Given the description of an element on the screen output the (x, y) to click on. 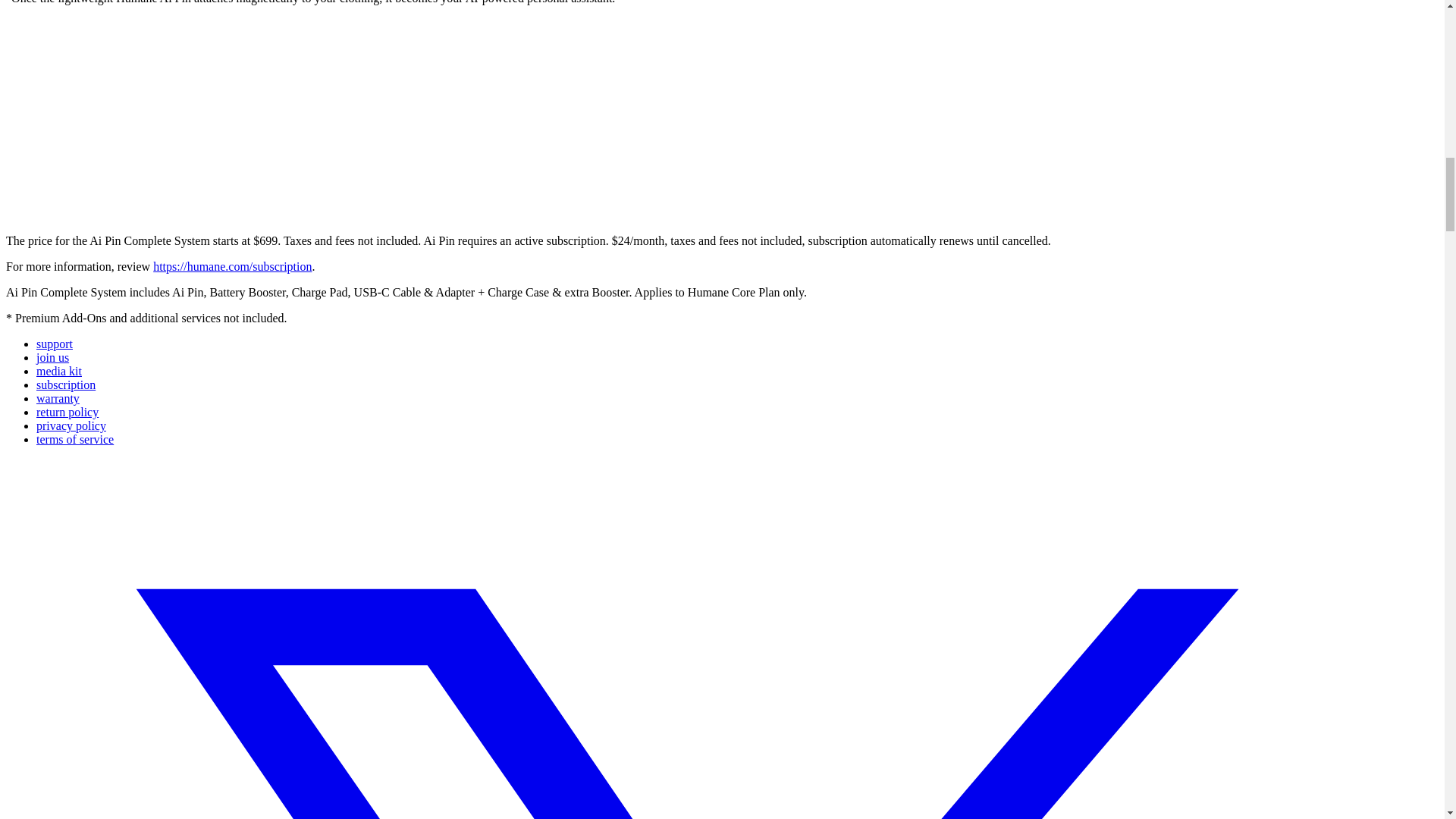
return policy (67, 411)
media kit (58, 370)
privacy policy (71, 425)
terms of service (74, 439)
support (54, 343)
join us (52, 357)
subscription (66, 384)
warranty (58, 398)
